Given the description of an element on the screen output the (x, y) to click on. 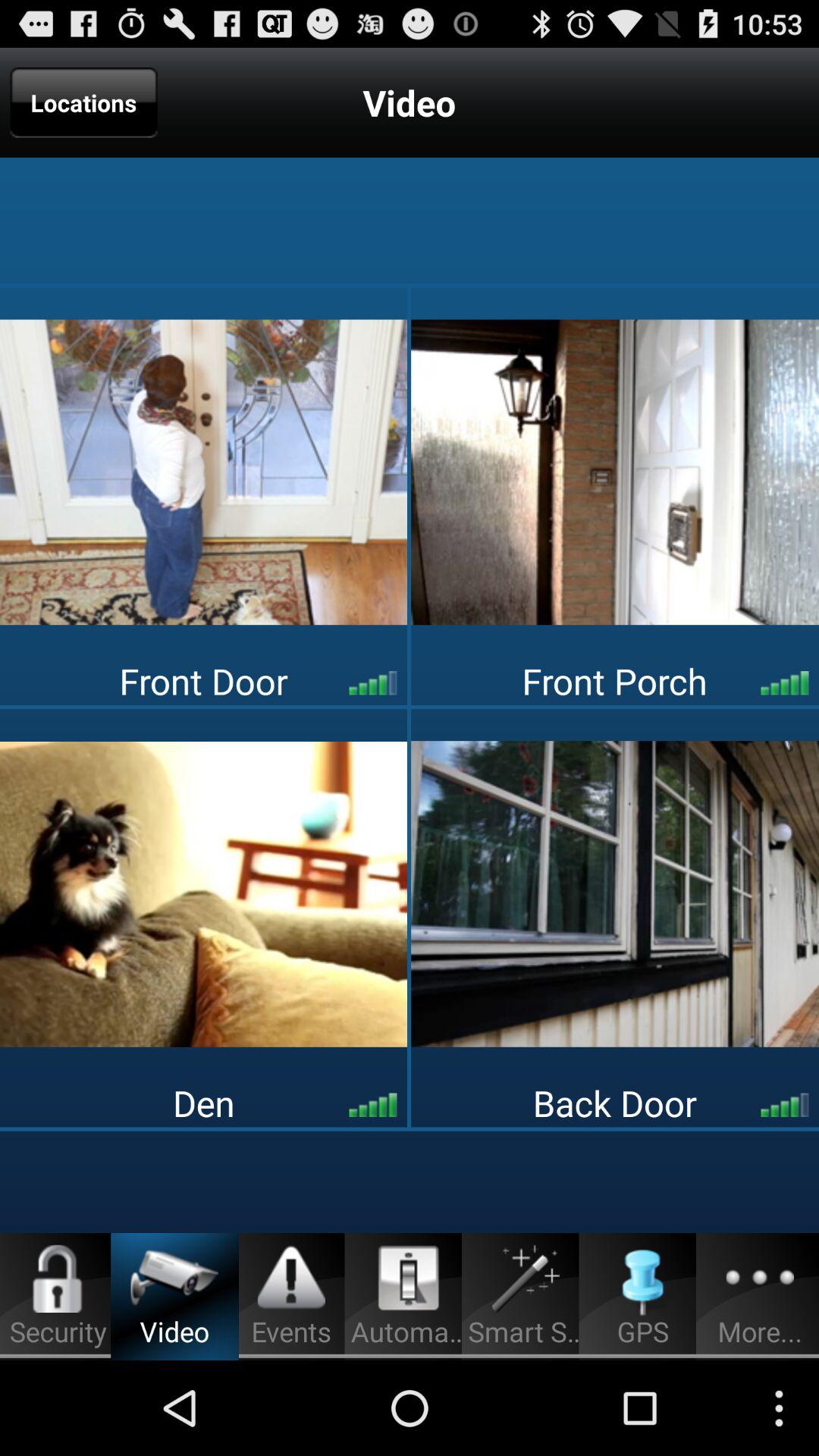
open picture of porch (615, 471)
